Given the description of an element on the screen output the (x, y) to click on. 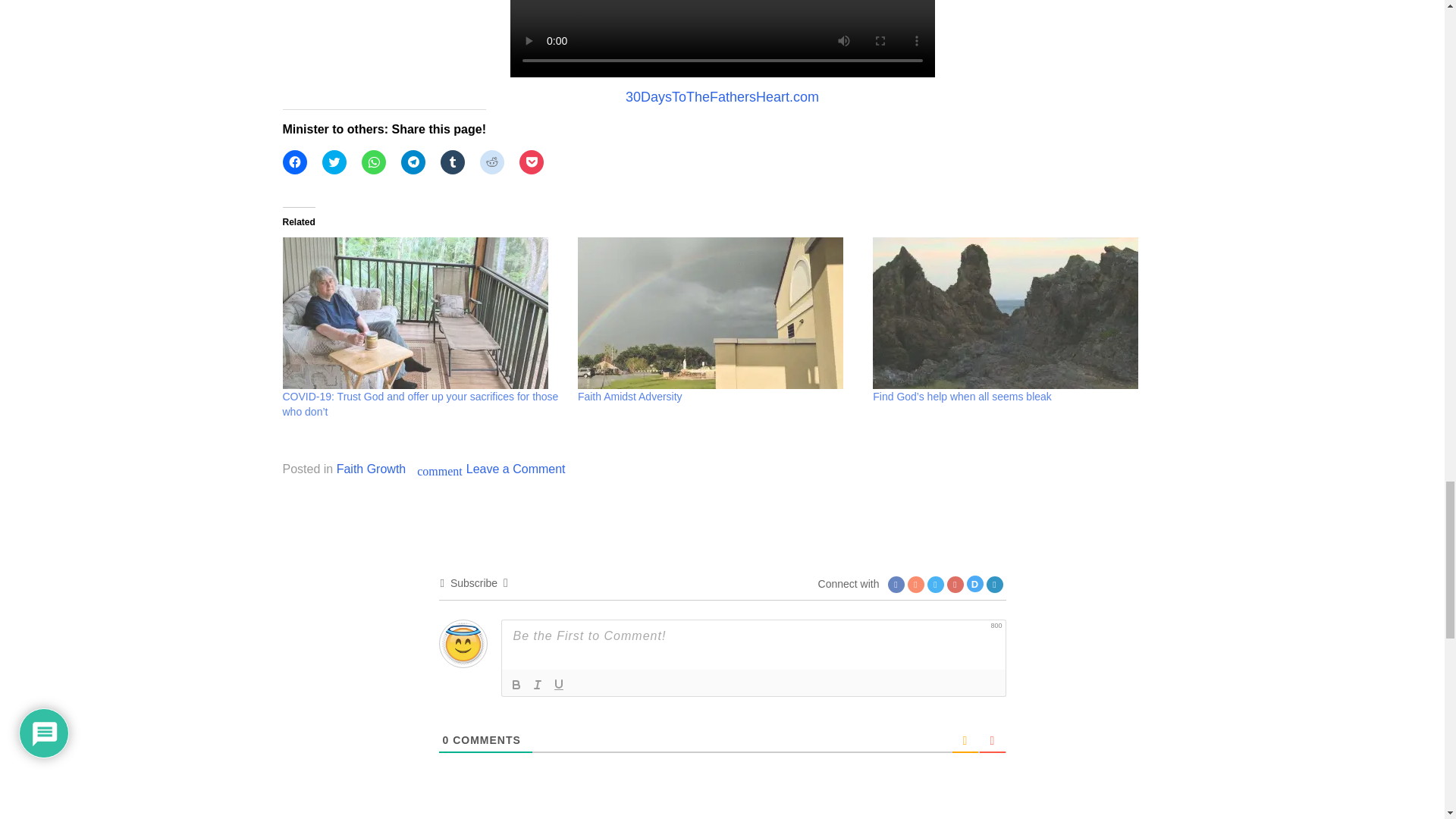
Click to share on Pocket (530, 161)
Click to share on Twitter (333, 161)
Click to share on Facebook (293, 161)
Faith Amidst Adversity (717, 313)
Bold (515, 684)
Click to share on Telegram (412, 161)
Click to share on WhatsApp (373, 161)
Click to share on Reddit (491, 161)
Click to share on Tumblr (451, 161)
Faith Amidst Adversity (630, 396)
